Given the description of an element on the screen output the (x, y) to click on. 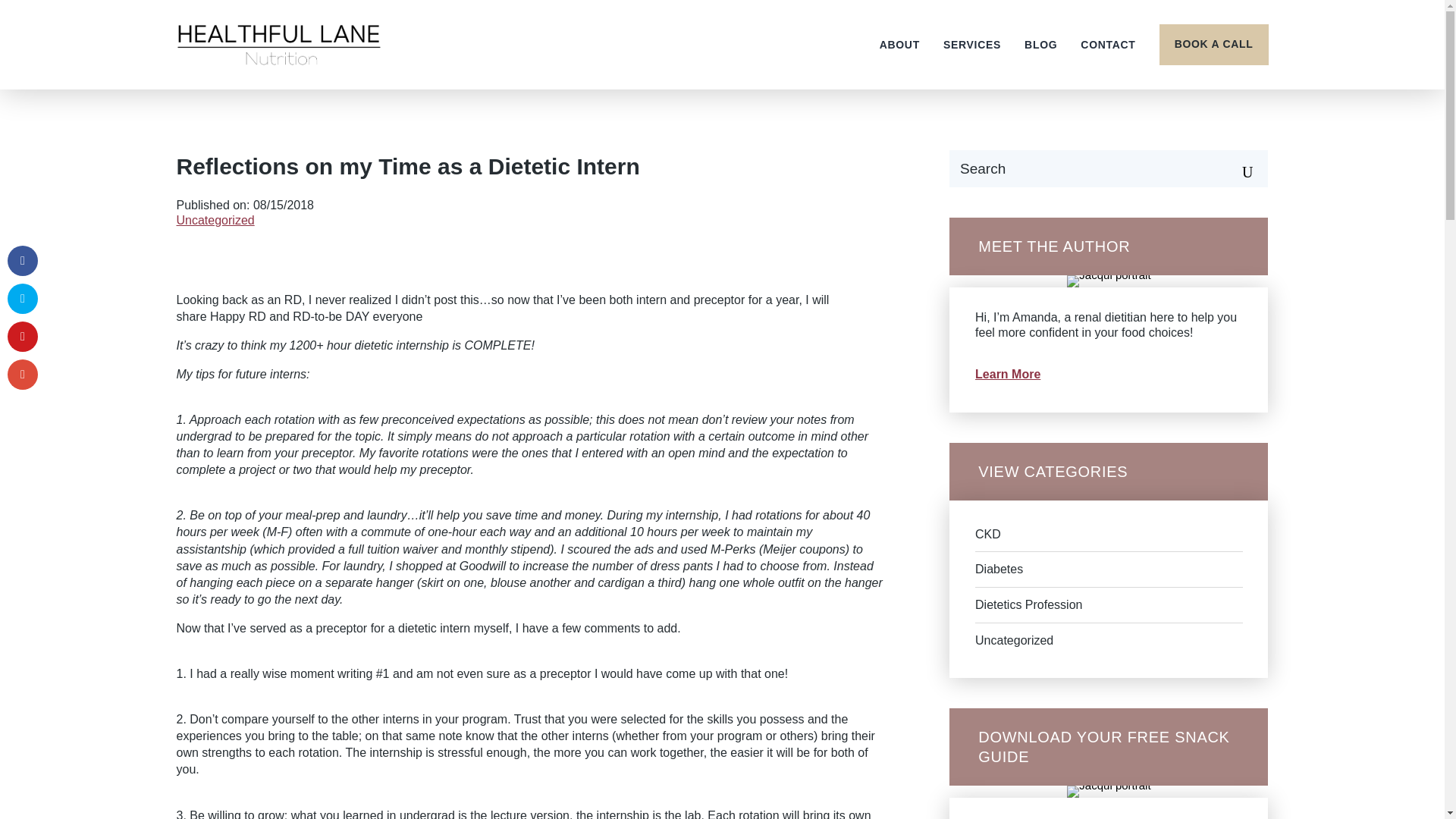
Diabetes (999, 568)
Search (1238, 168)
Search (1238, 168)
confident-food-choices (1108, 791)
Search (1238, 168)
CKD (988, 533)
Uncategorized (1013, 640)
Dietetics Profession (1028, 604)
Learn More (1008, 373)
BOOK A CALL (1213, 44)
